Given the description of an element on the screen output the (x, y) to click on. 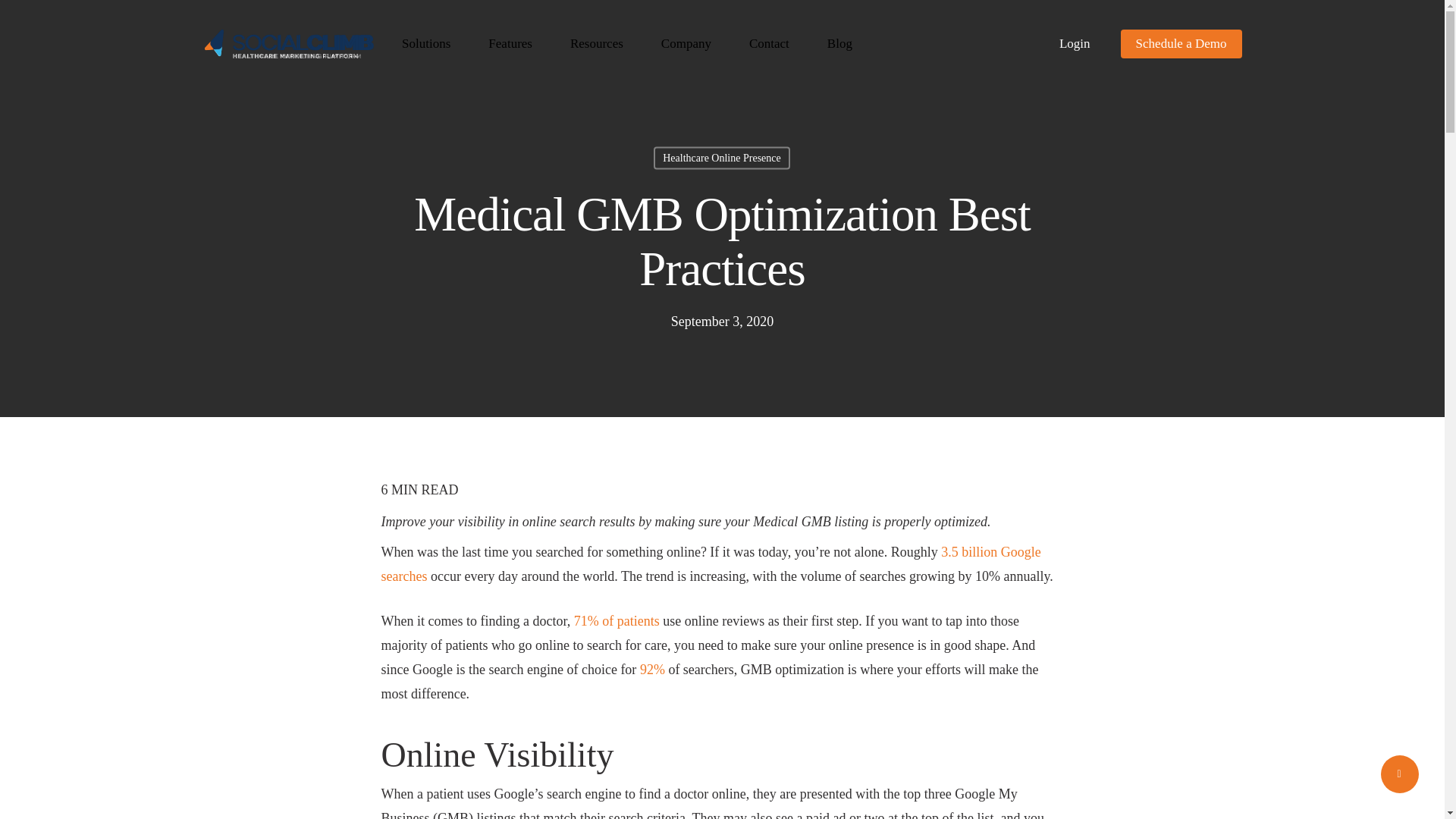
Solutions (426, 43)
